Given the description of an element on the screen output the (x, y) to click on. 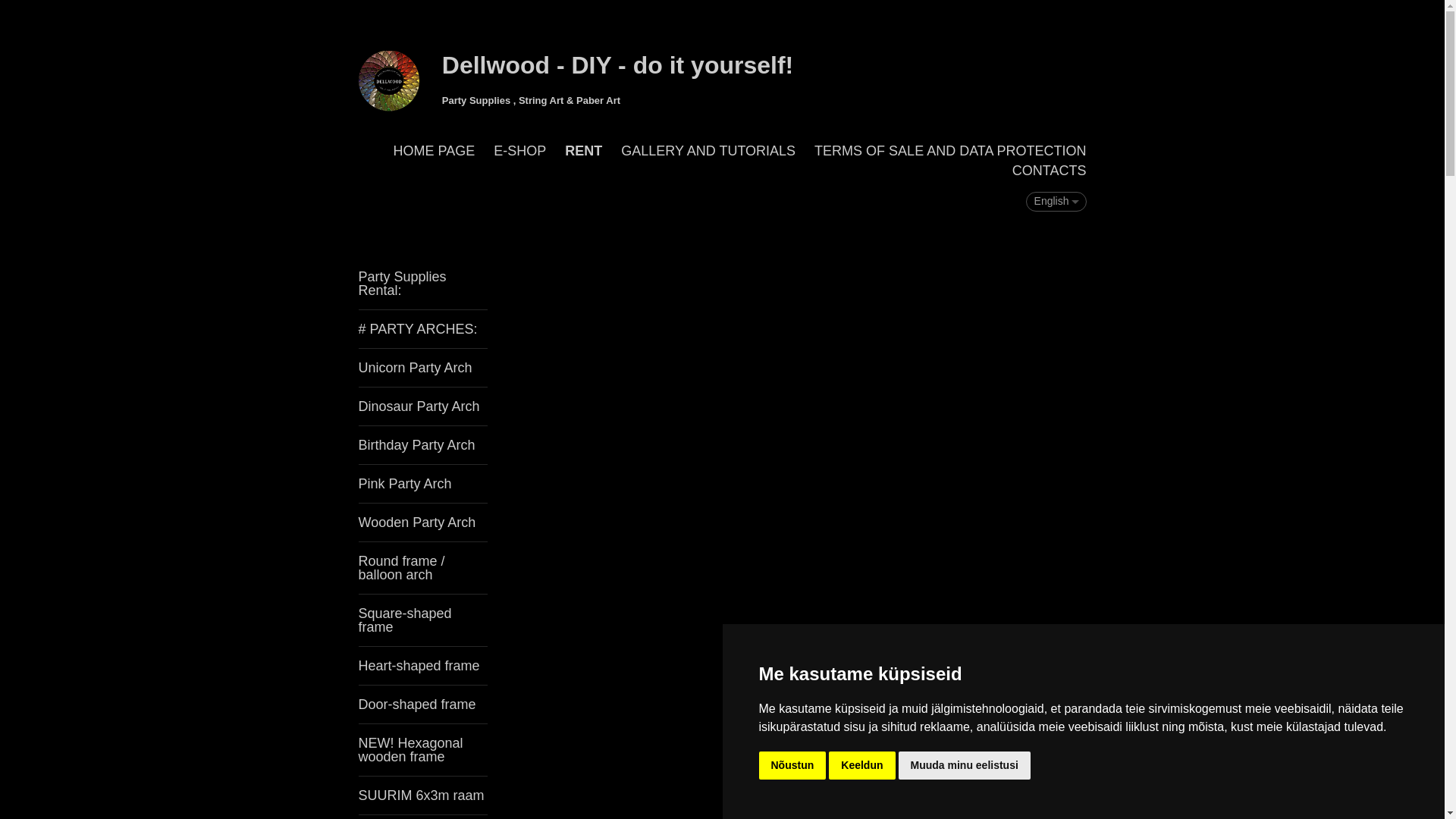
Muuda minu eelistusi (963, 765)
Keeldun (861, 765)
